Given the description of an element on the screen output the (x, y) to click on. 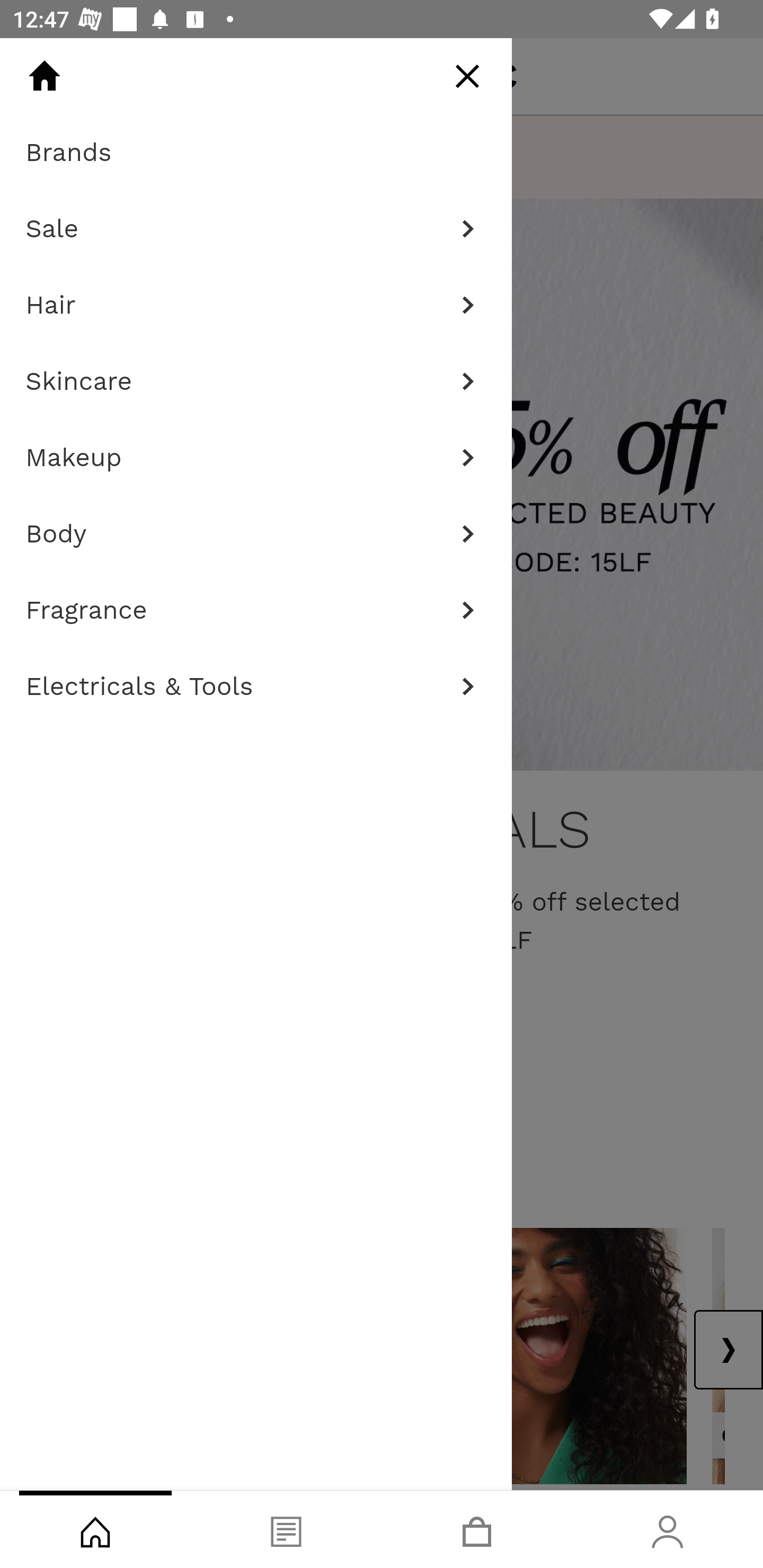
Home (44, 75)
Close Menu (467, 75)
Brands (255, 152)
Sale (255, 228)
Hair (255, 304)
Skincare (255, 381)
Makeup (255, 457)
Body (255, 533)
Fragrance (255, 610)
Electricals & Tools (255, 686)
